Given the description of an element on the screen output the (x, y) to click on. 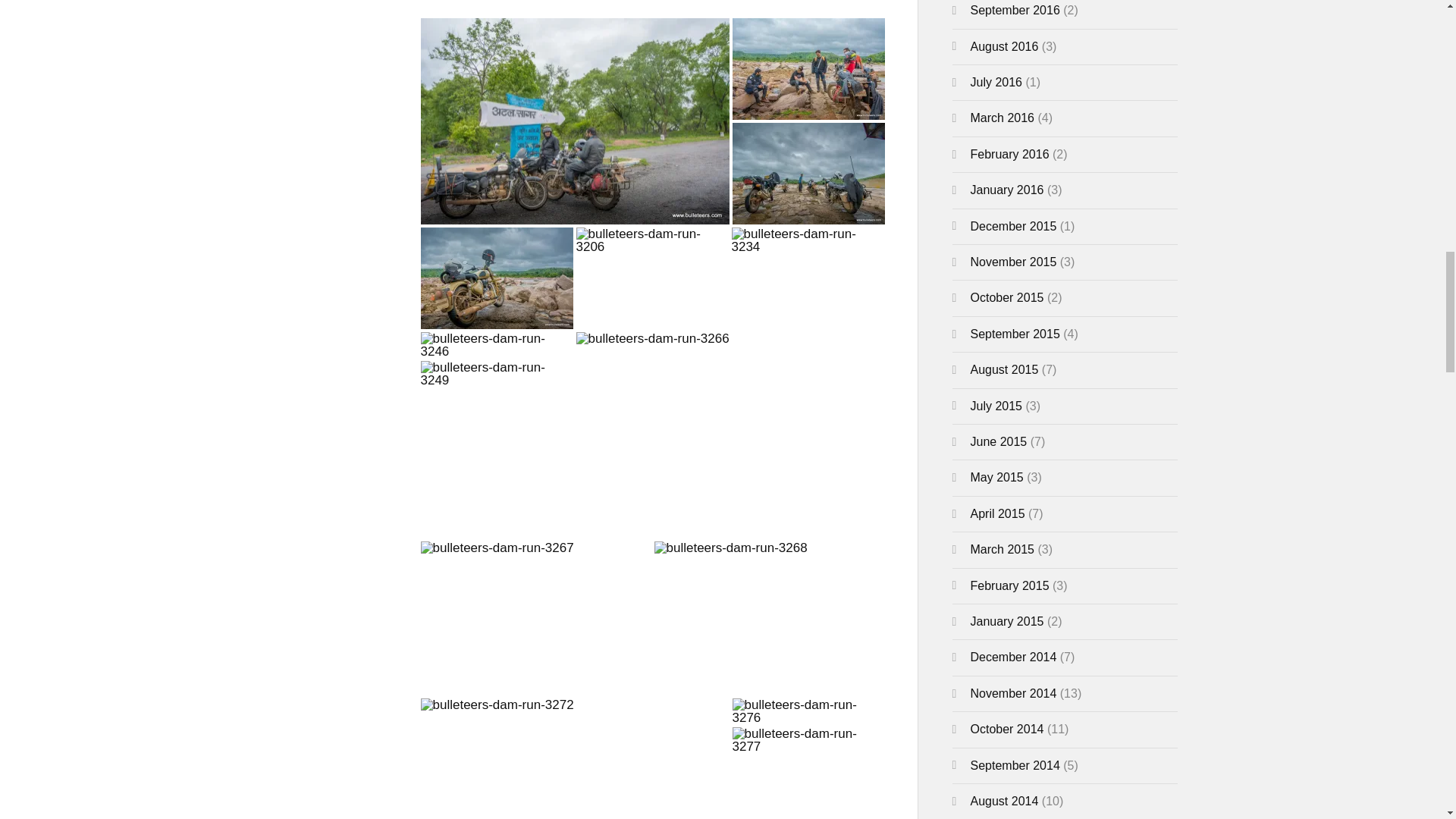
bulleteers-dam-run-3267 (496, 547)
bulleteers-dam-run-3249 (496, 373)
bulleteers-dam-run-3199 (808, 173)
bulleteers-dam-run-3266 (652, 338)
bulleteers-dam-run-3190 (808, 68)
bulleteers-dam-run-3203 (496, 278)
bulleteers-dam-run-3246 (496, 344)
bulleteers-dam-run-3234 (806, 240)
bulleteers-dam-run-3206 (652, 240)
